Given the description of an element on the screen output the (x, y) to click on. 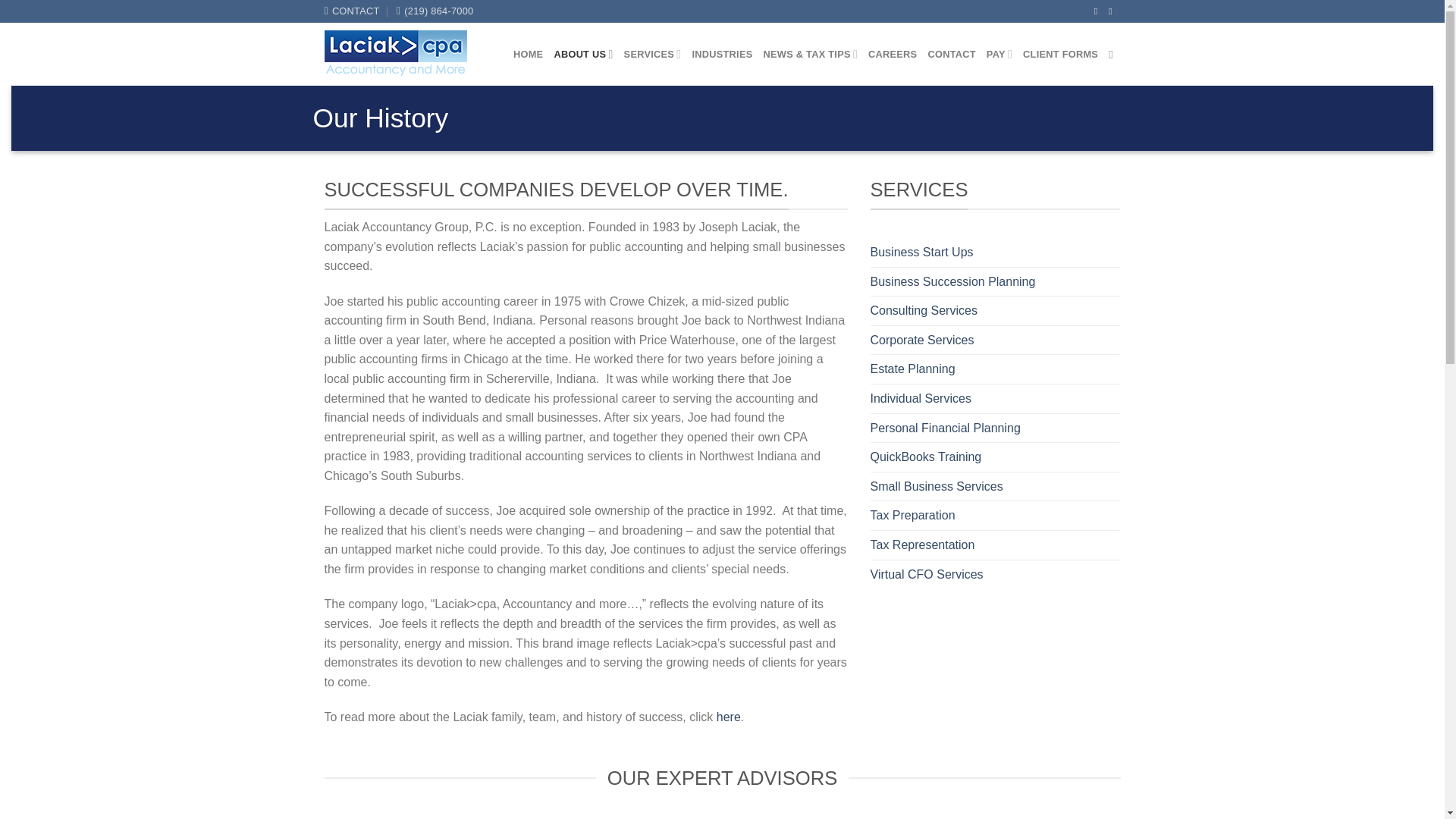
ABOUT US (582, 54)
HOME (528, 54)
SERVICES (652, 54)
CAREERS (892, 54)
CLIENT FORMS (1060, 54)
CONTACT (951, 54)
INDUSTRIES (721, 54)
CONTACT (352, 11)
